Given the description of an element on the screen output the (x, y) to click on. 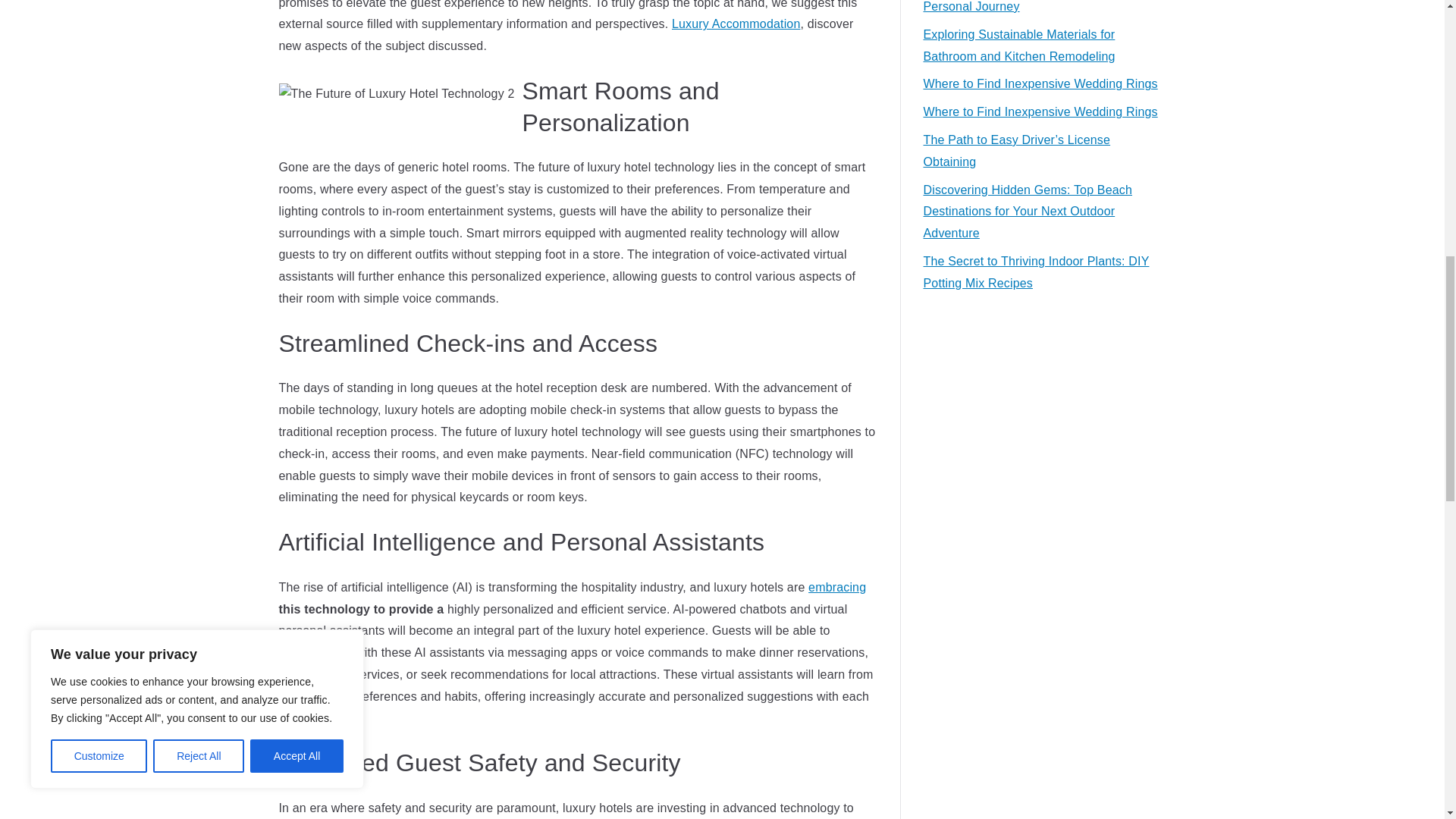
embracing (837, 586)
Luxury Accommodation (735, 23)
